Given the description of an element on the screen output the (x, y) to click on. 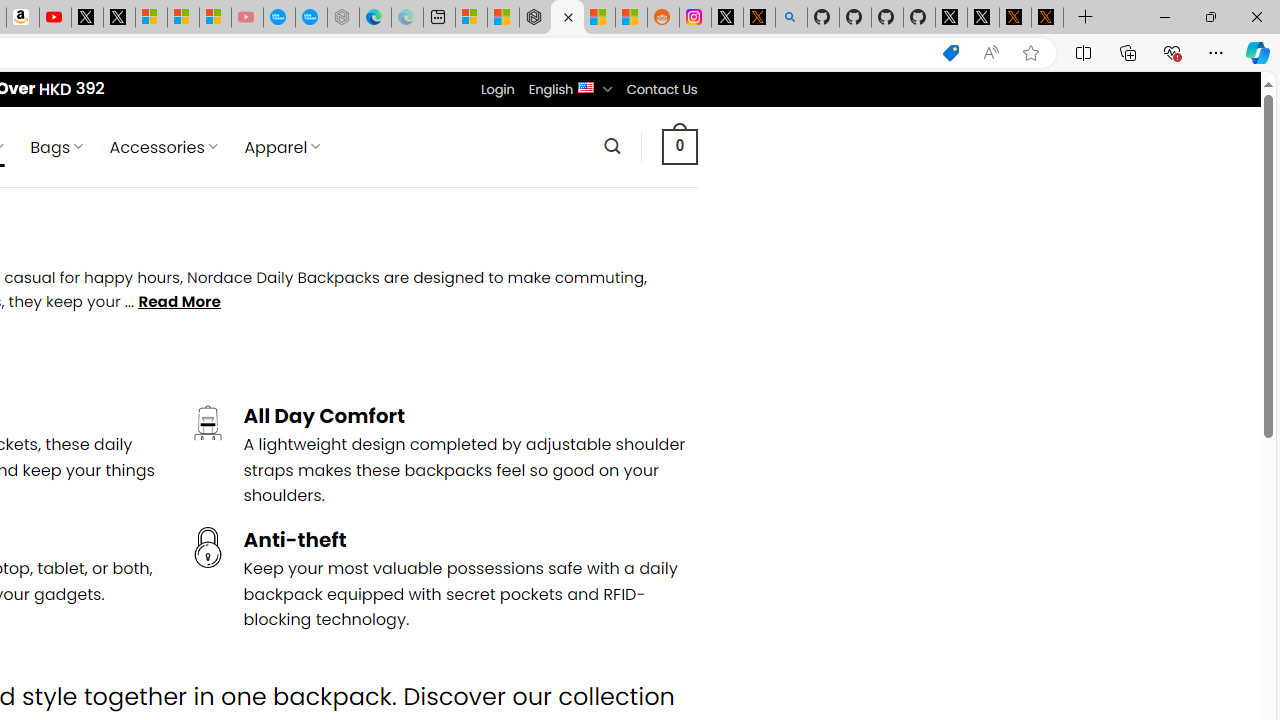
X Privacy Policy (1047, 17)
Login (497, 89)
Log in to X / X (727, 17)
English (586, 86)
github - Search (791, 17)
